Given the description of an element on the screen output the (x, y) to click on. 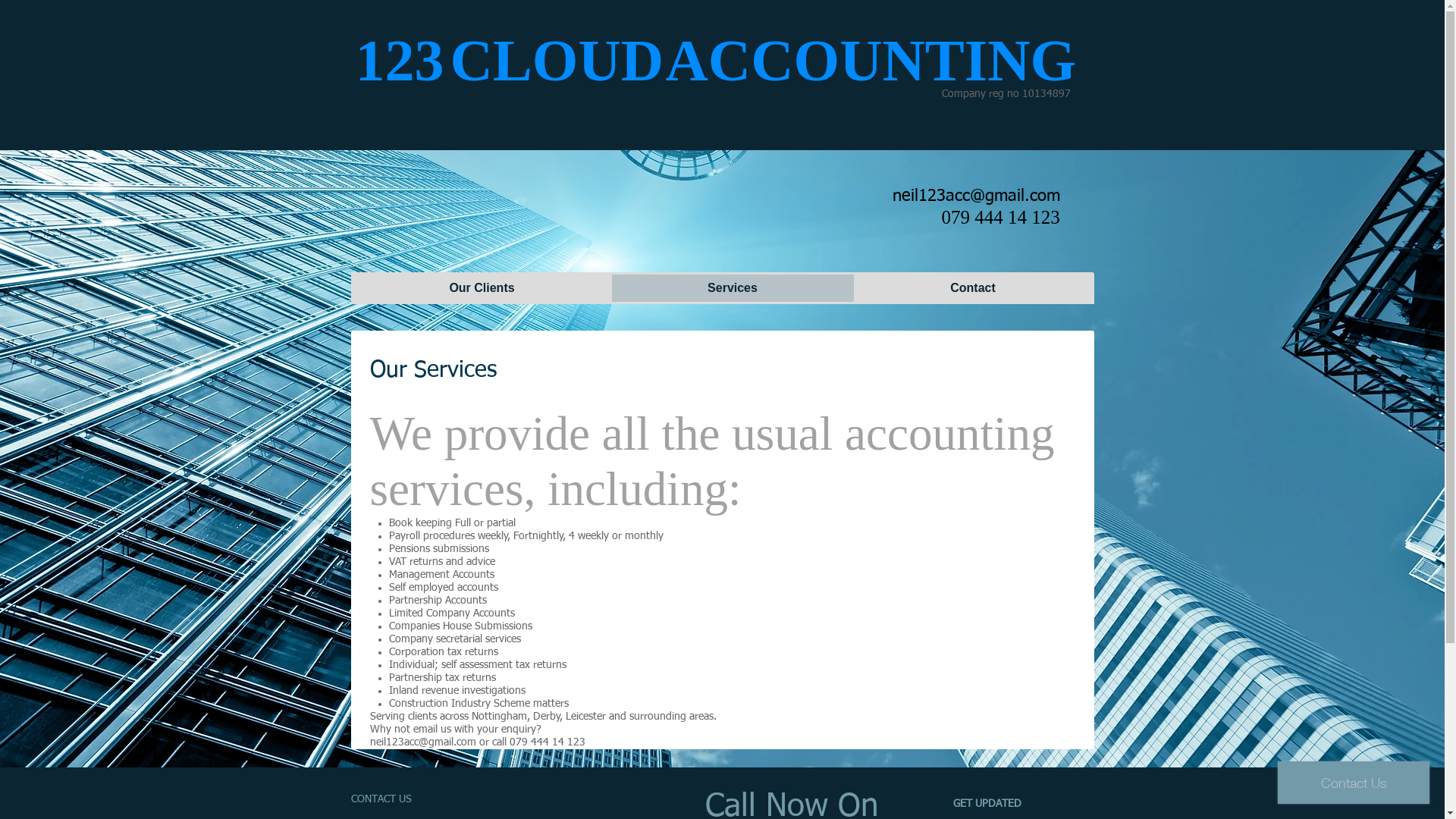
neil123acc@gmail.com Element type: text (975, 196)
Contact Element type: text (972, 287)
123 Element type: text (398, 60)
ACCOUNTING Element type: text (870, 60)
Our Clients Element type: text (482, 287)
CLOUD Element type: text (557, 60)
Services Element type: text (732, 287)
neil123acc@gmail.com Element type: text (423, 742)
